Given the description of an element on the screen output the (x, y) to click on. 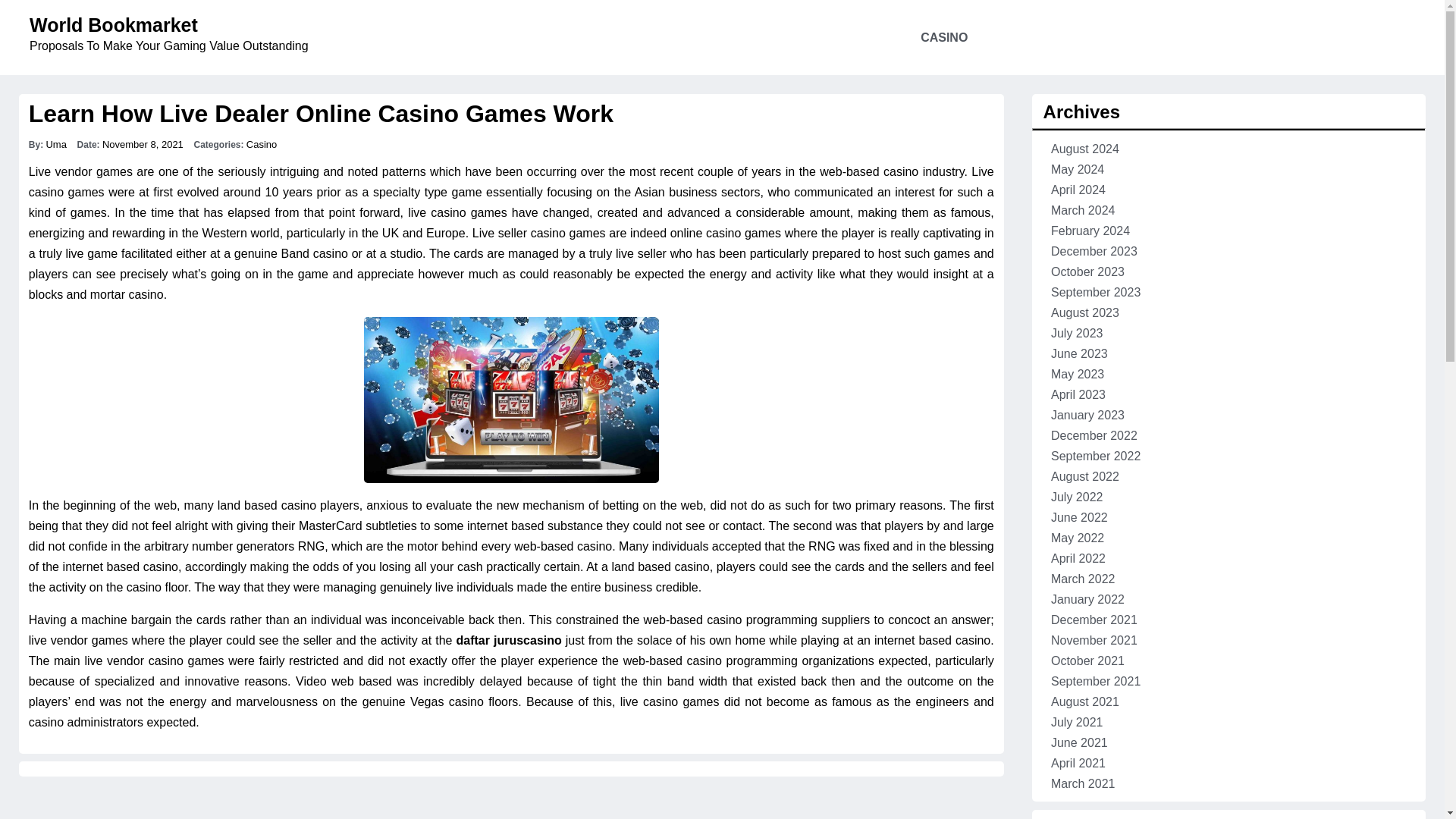
June 2023 (1079, 353)
August 2022 (1085, 476)
August 2021 (1085, 701)
January 2022 (1087, 599)
September 2022 (1095, 455)
June 2022 (1079, 517)
CASINO (944, 37)
September 2021 (1095, 680)
April 2024 (1078, 189)
February 2024 (1090, 230)
